Given the description of an element on the screen output the (x, y) to click on. 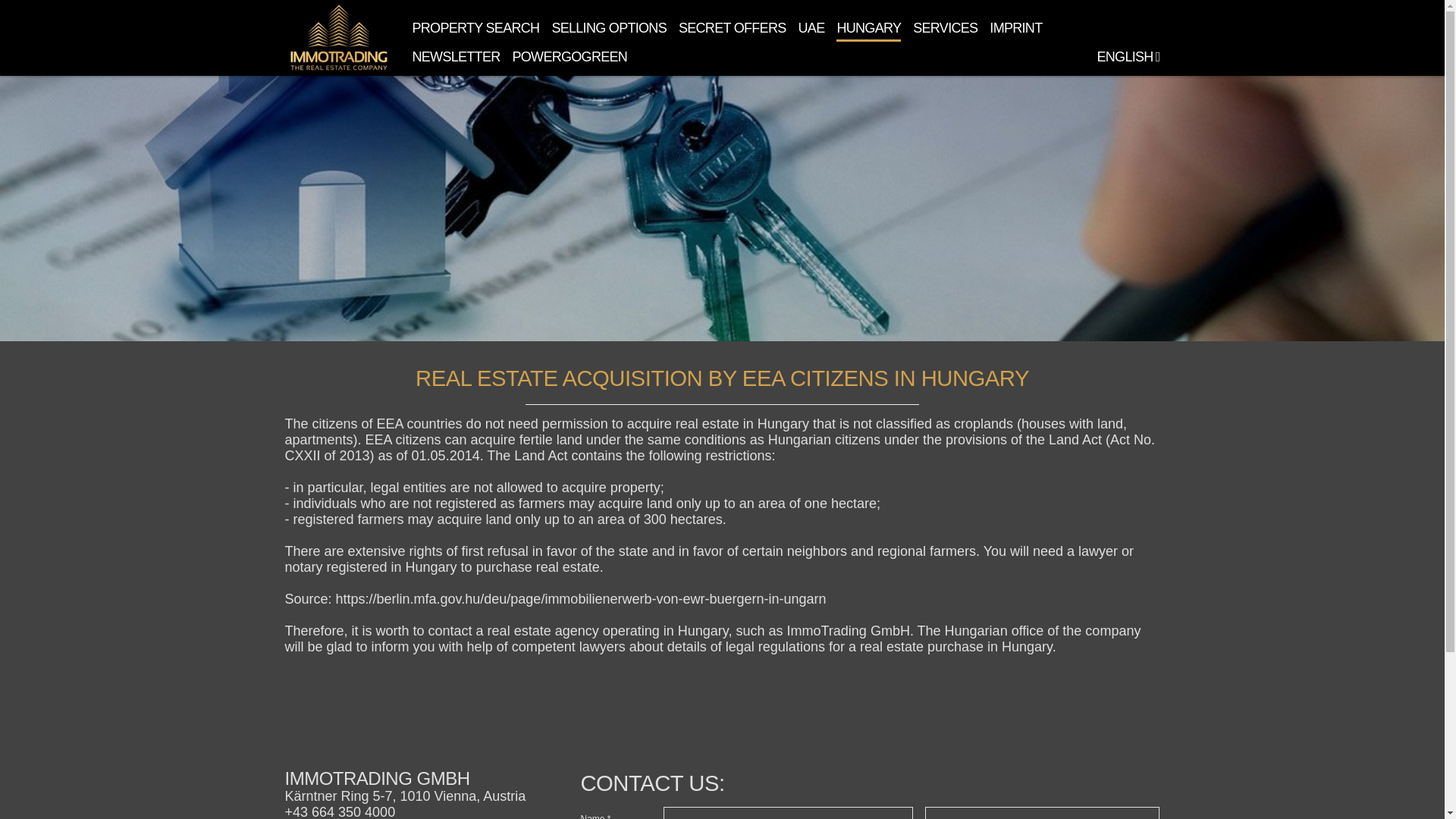
HUNGARY (868, 27)
UAE (811, 27)
NEWSLETTER (456, 55)
ENGLISH (1127, 56)
SECRET OFFERS (732, 27)
SERVICES (944, 27)
PROPERTY SEARCH (476, 27)
POWERGOGREEN (569, 55)
SELLING OPTIONS (608, 27)
IMPRINT (1016, 27)
